Given the description of an element on the screen output the (x, y) to click on. 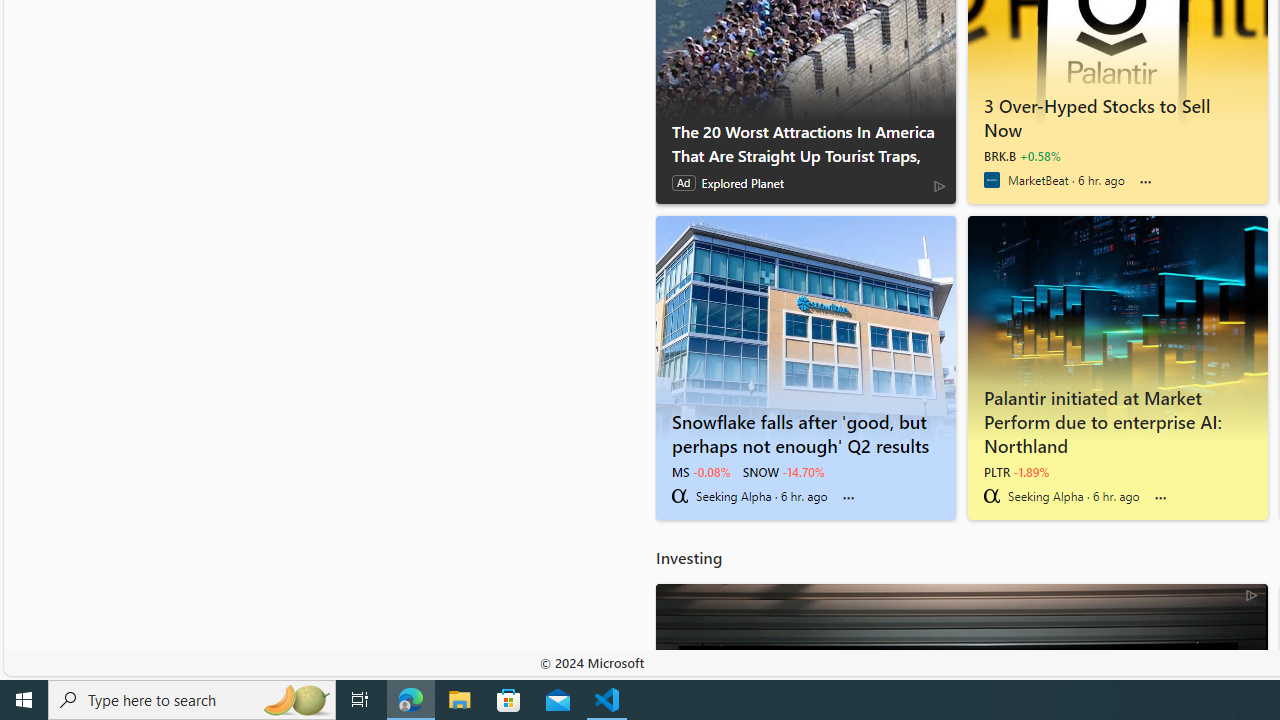
MS -0.08% (700, 471)
Ad (683, 183)
PLTR -1.89% (1016, 471)
AdChoices (1251, 594)
SNOW -14.70% (783, 471)
Seeking Alpha (991, 495)
3 Over-Hyped Stocks to Sell Now - MarketBeat (1117, 114)
